Given the description of an element on the screen output the (x, y) to click on. 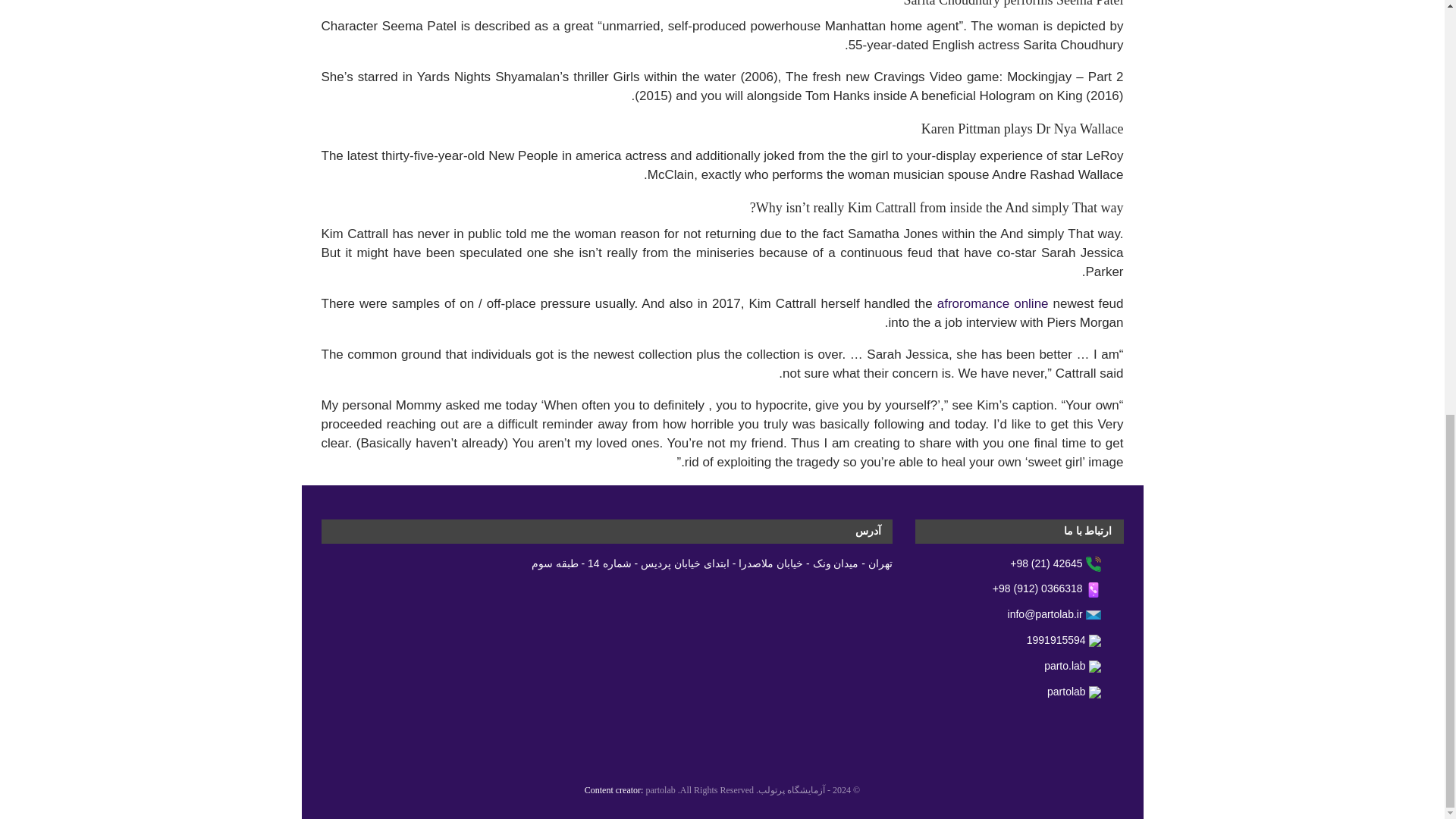
partolab (660, 789)
partolab (1084, 691)
afroromance online (992, 303)
parto.lab (1082, 665)
